Given the description of an element on the screen output the (x, y) to click on. 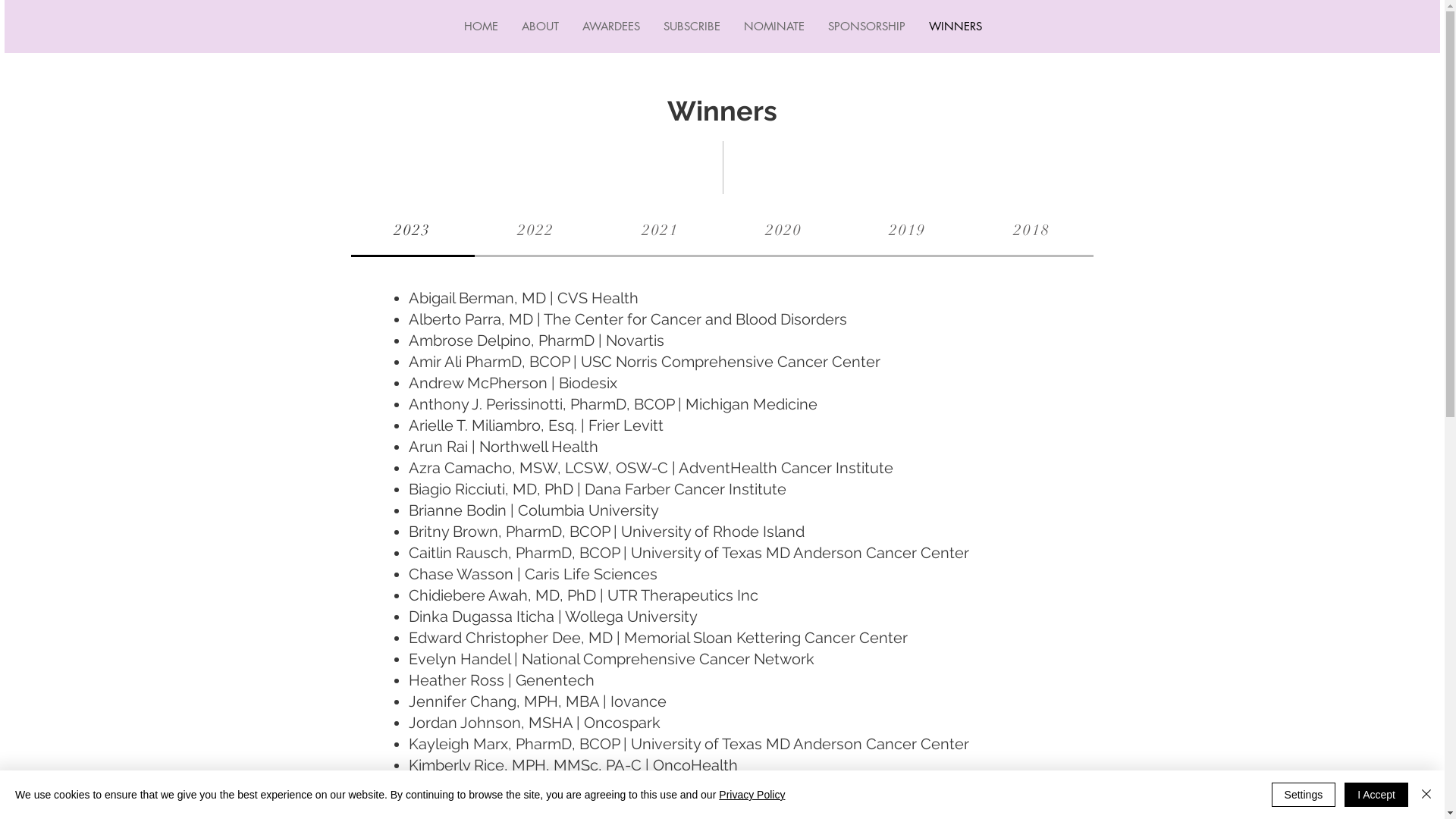
HOME Element type: text (480, 26)
WINNERS Element type: text (954, 26)
ABOUT Element type: text (539, 26)
I Accept Element type: text (1376, 794)
SPONSORSHIP Element type: text (865, 26)
Privacy Policy Element type: text (751, 794)
Settings Element type: text (1303, 794)
SUBSCRIBE Element type: text (690, 26)
AWARDEES Element type: text (610, 26)
NOMINATE Element type: text (773, 26)
